Given the description of an element on the screen output the (x, y) to click on. 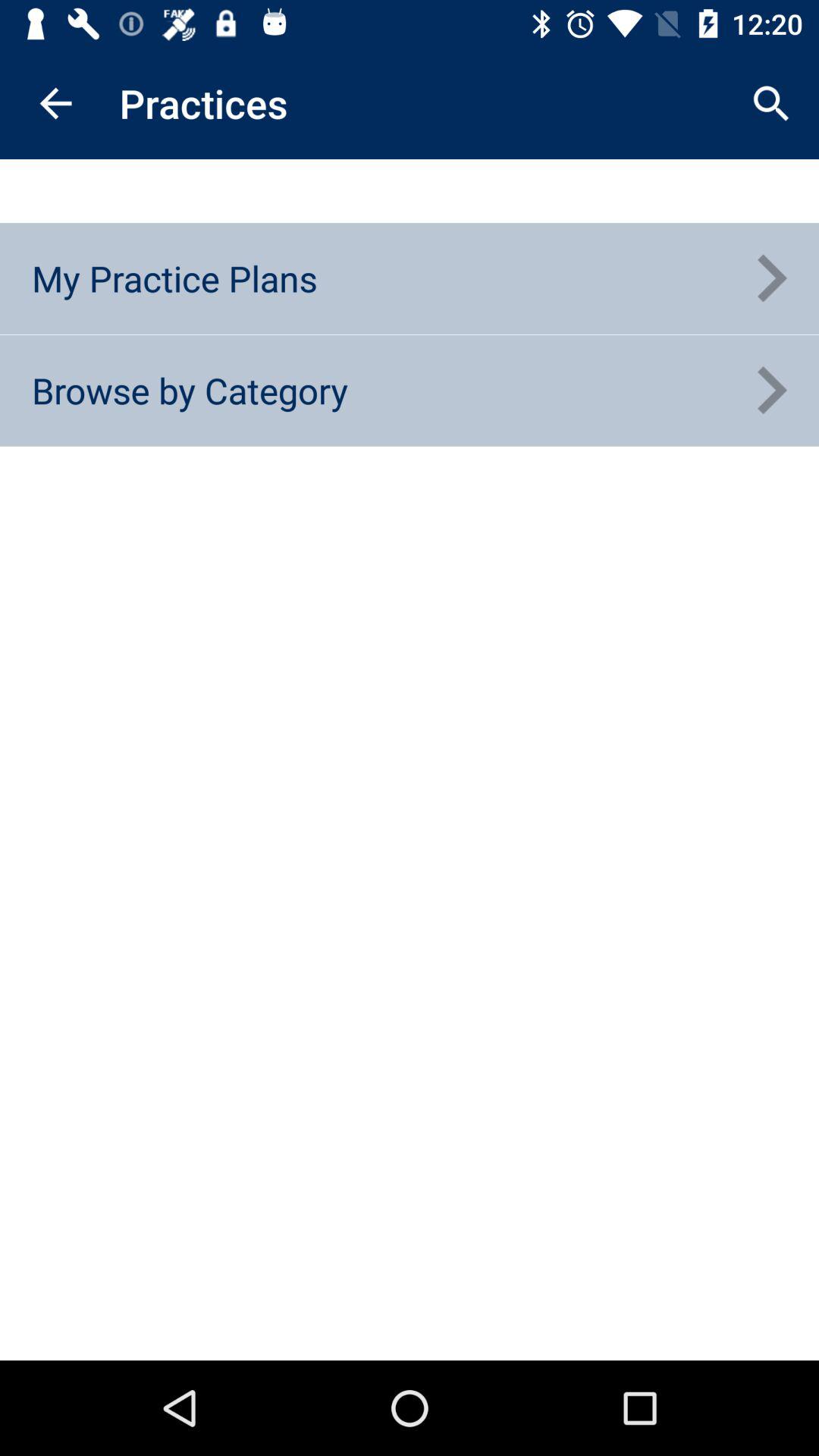
scroll to my practice plans item (174, 278)
